Given the description of an element on the screen output the (x, y) to click on. 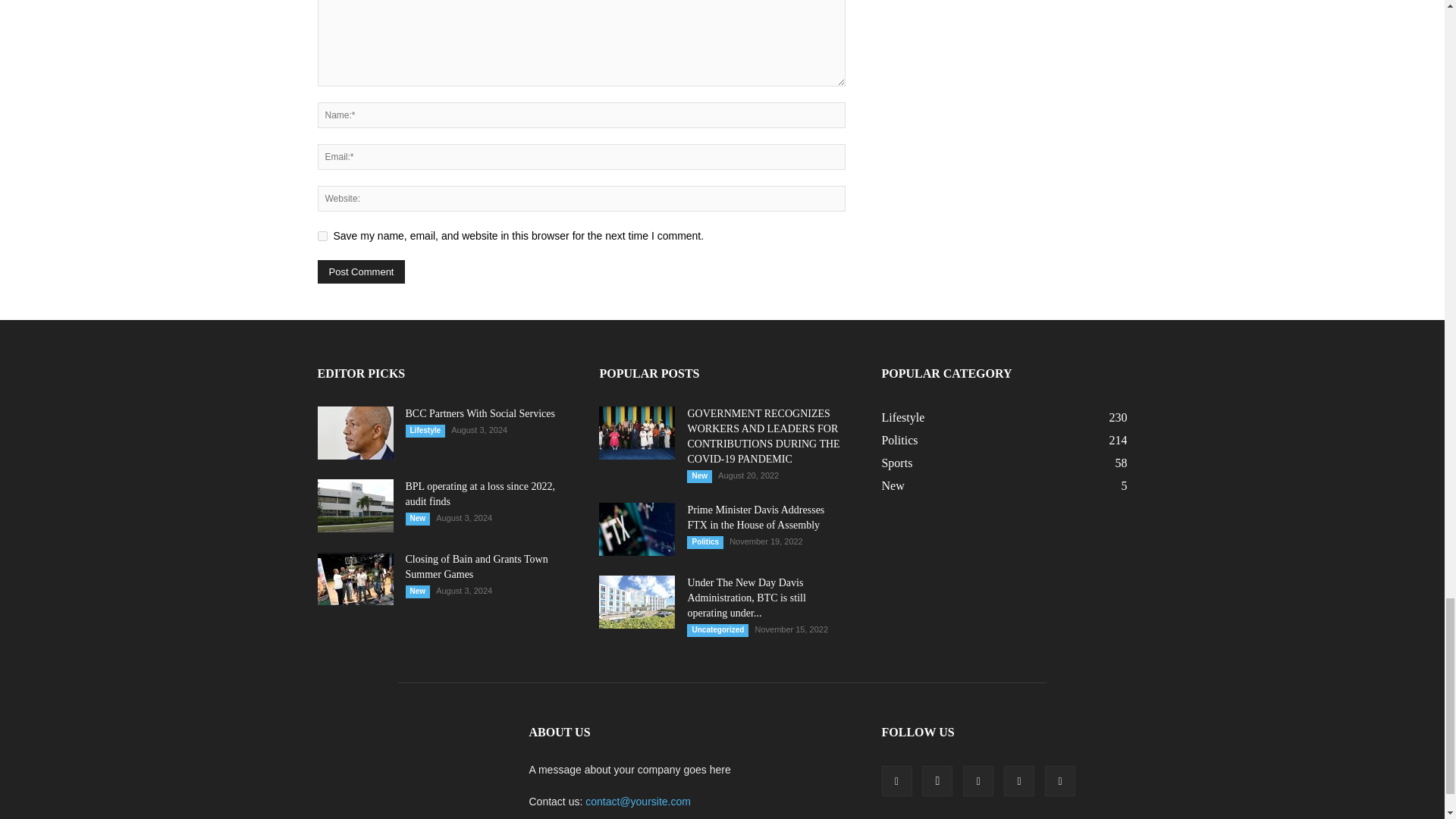
yes (321, 235)
Post Comment (360, 271)
